Given the description of an element on the screen output the (x, y) to click on. 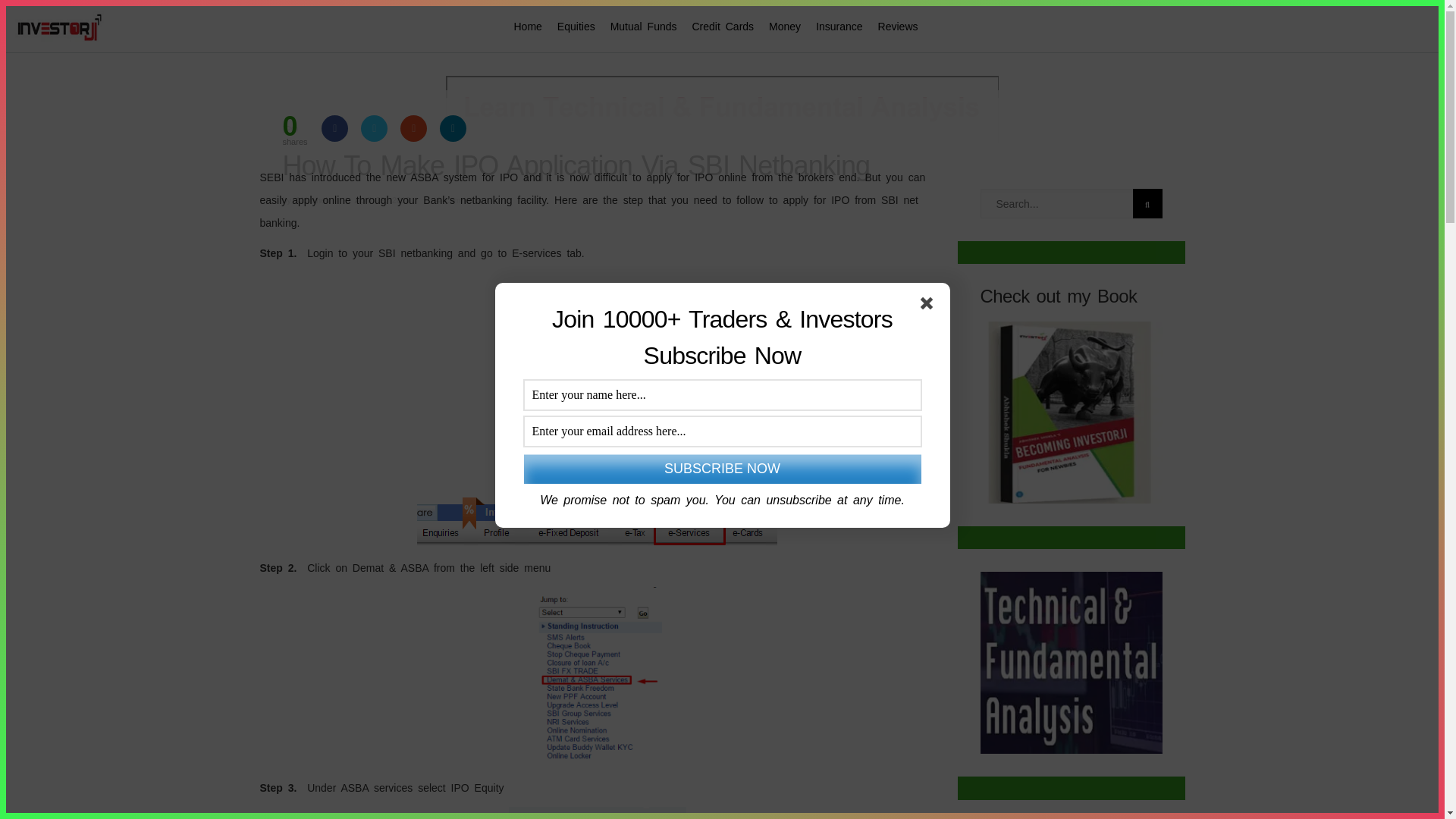
Subscribe Now (721, 468)
Close optin form (929, 306)
How To Make IPO Application Via SBI Netbanking (733, 165)
IPO (290, 129)
Credit Cards (722, 26)
Mutual Funds (643, 26)
4 comments (459, 199)
